Given the description of an element on the screen output the (x, y) to click on. 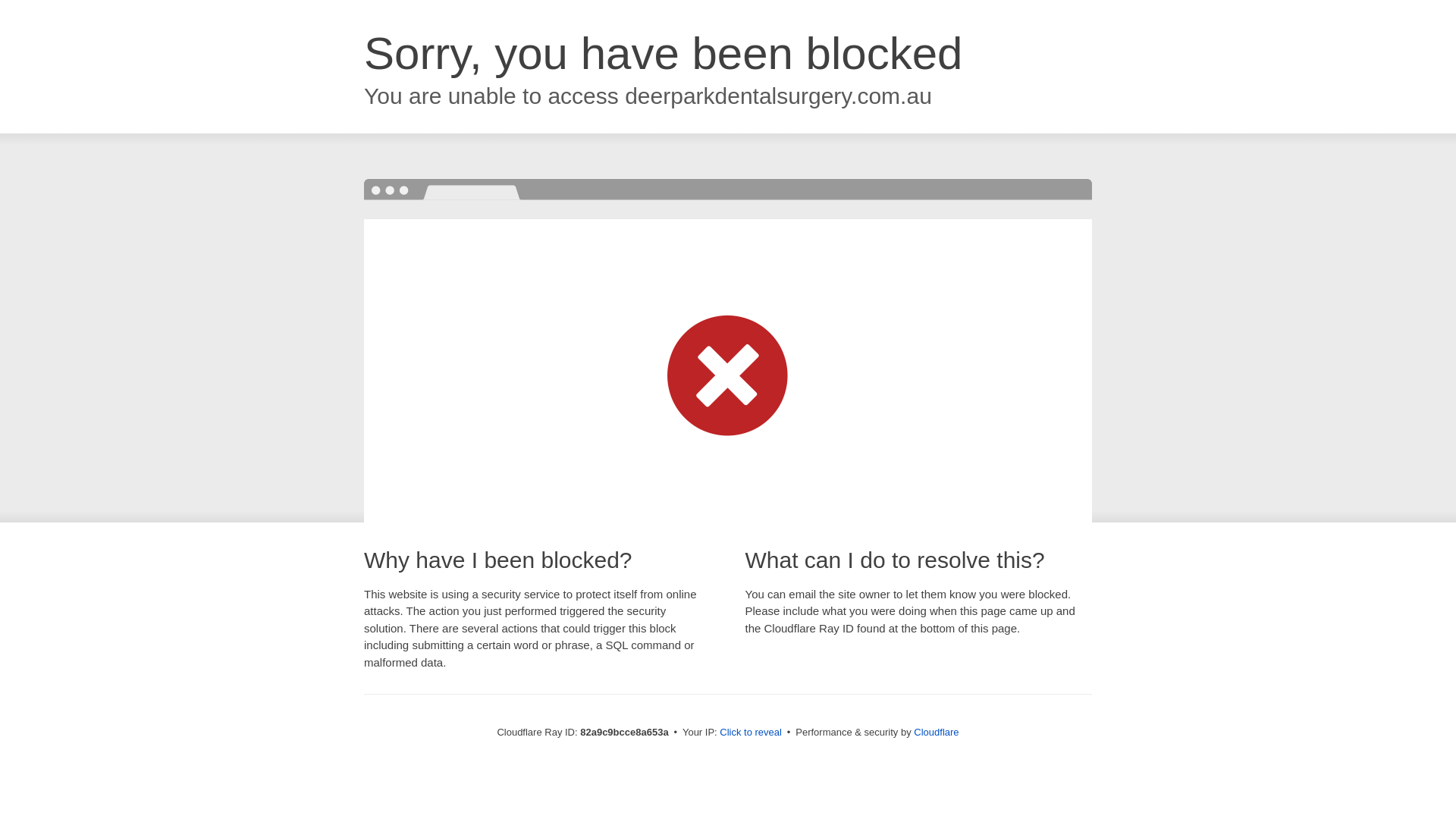
Click to reveal Element type: text (750, 732)
Cloudflare Element type: text (935, 731)
